Given the description of an element on the screen output the (x, y) to click on. 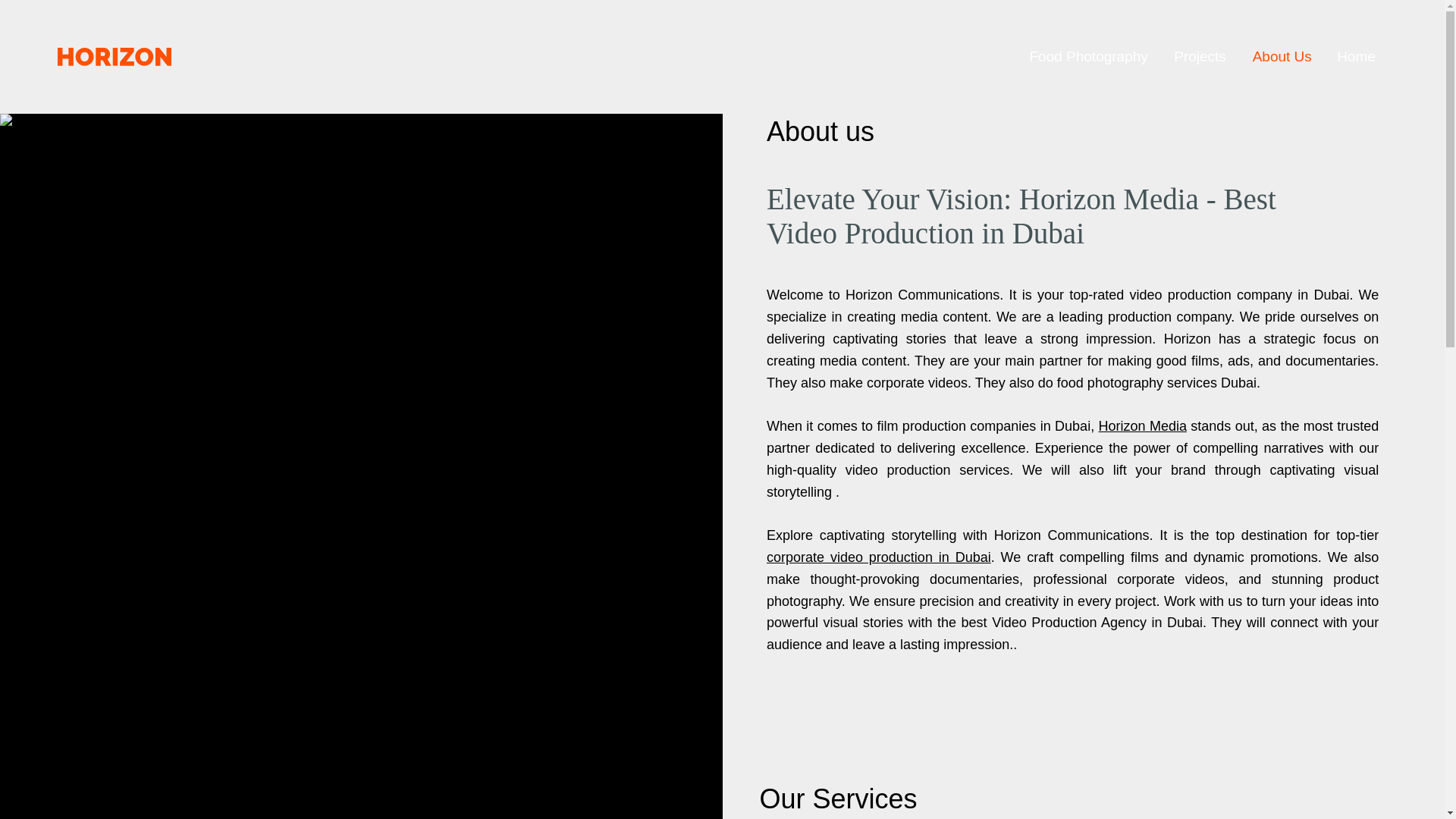
About Us (1280, 56)
Home (1355, 56)
Food Photography (1084, 56)
Horizon Media (1141, 426)
corporate video production in Dubai (879, 557)
Projects (1197, 56)
